Given the description of an element on the screen output the (x, y) to click on. 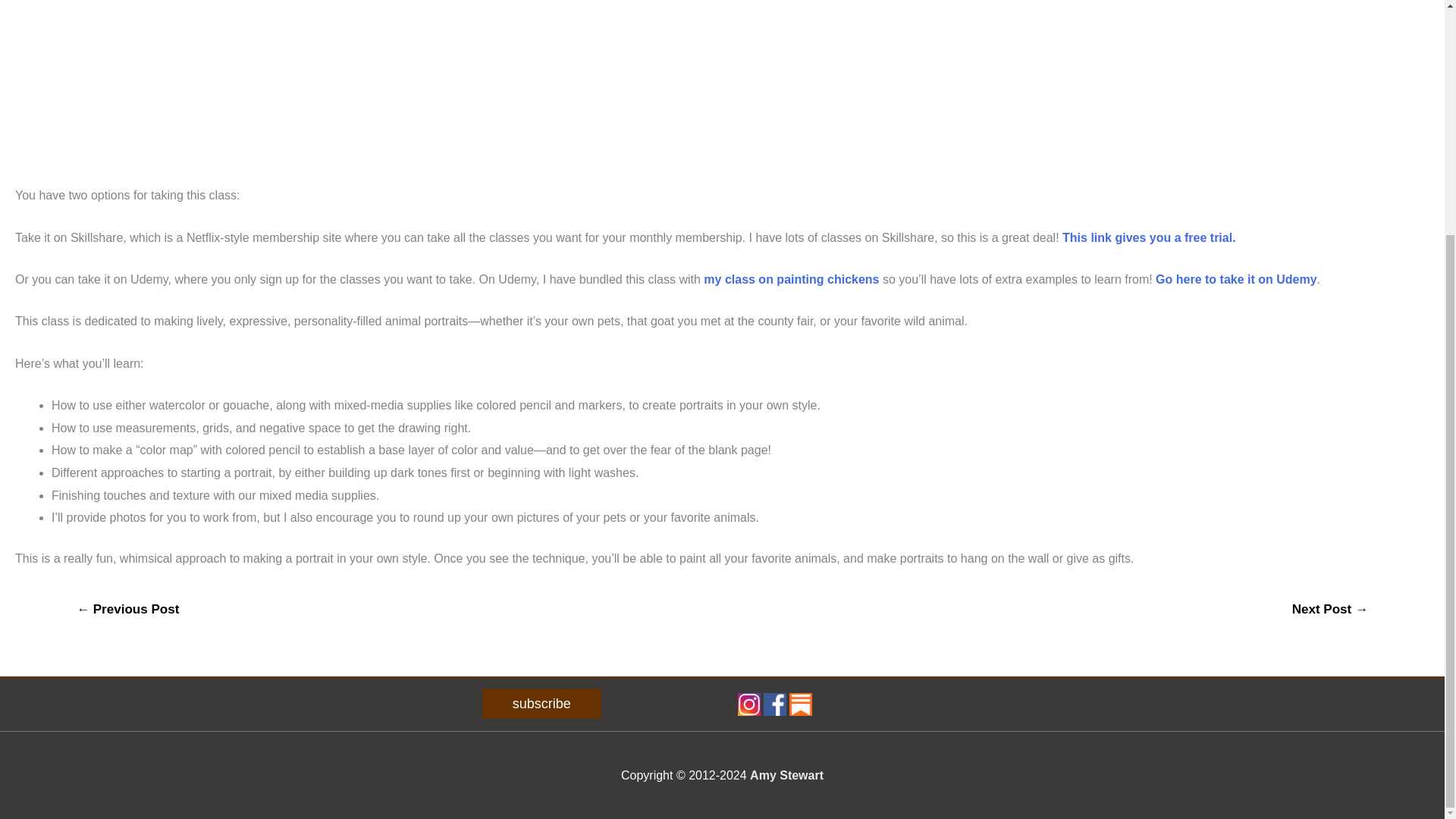
YouTube video player (226, 79)
Go here to take it on Udemy (1236, 278)
This link gives you a free trial.  (1150, 237)
subscribe (541, 703)
Amy Stewart (786, 775)
Amy Stewart on Instagram (748, 703)
my class on painting chickens (791, 278)
Amy Stewart on Facebook (774, 703)
Amy Stewart on Substack (800, 703)
Bestselling Author Amy Stewart (786, 775)
